Given the description of an element on the screen output the (x, y) to click on. 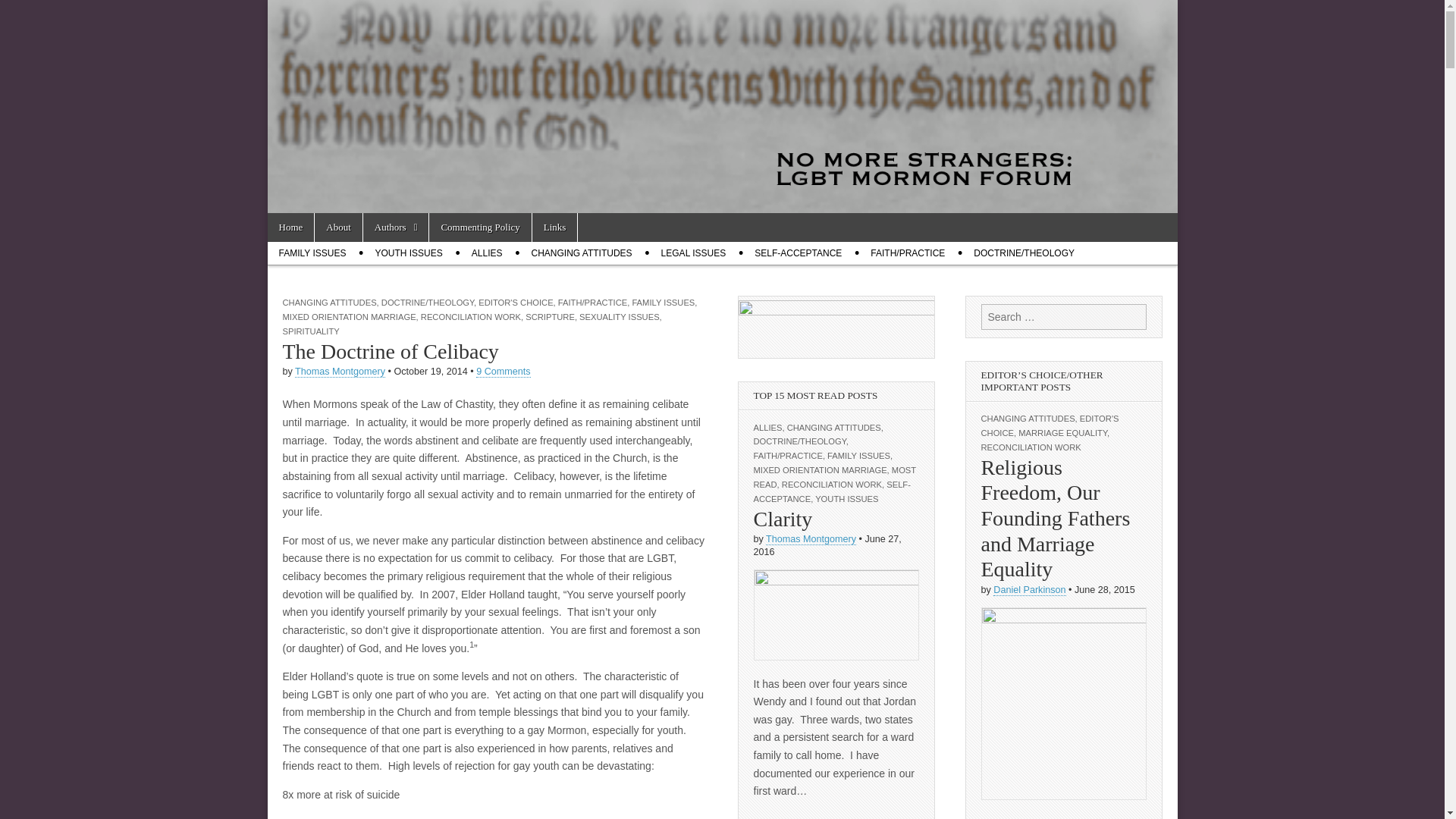
ALLIES (486, 252)
Commenting Policy (480, 226)
Home (290, 226)
CHANGING ATTITUDES (581, 252)
About (338, 226)
FAMILY ISSUES (311, 252)
Posts by Thomas Montgomery (810, 539)
No More Strangers (290, 226)
Posts by Thomas Montgomery (340, 371)
YOUTH ISSUES (407, 252)
LEGAL ISSUES (693, 252)
Authors (395, 226)
Links (555, 226)
